Given the description of an element on the screen output the (x, y) to click on. 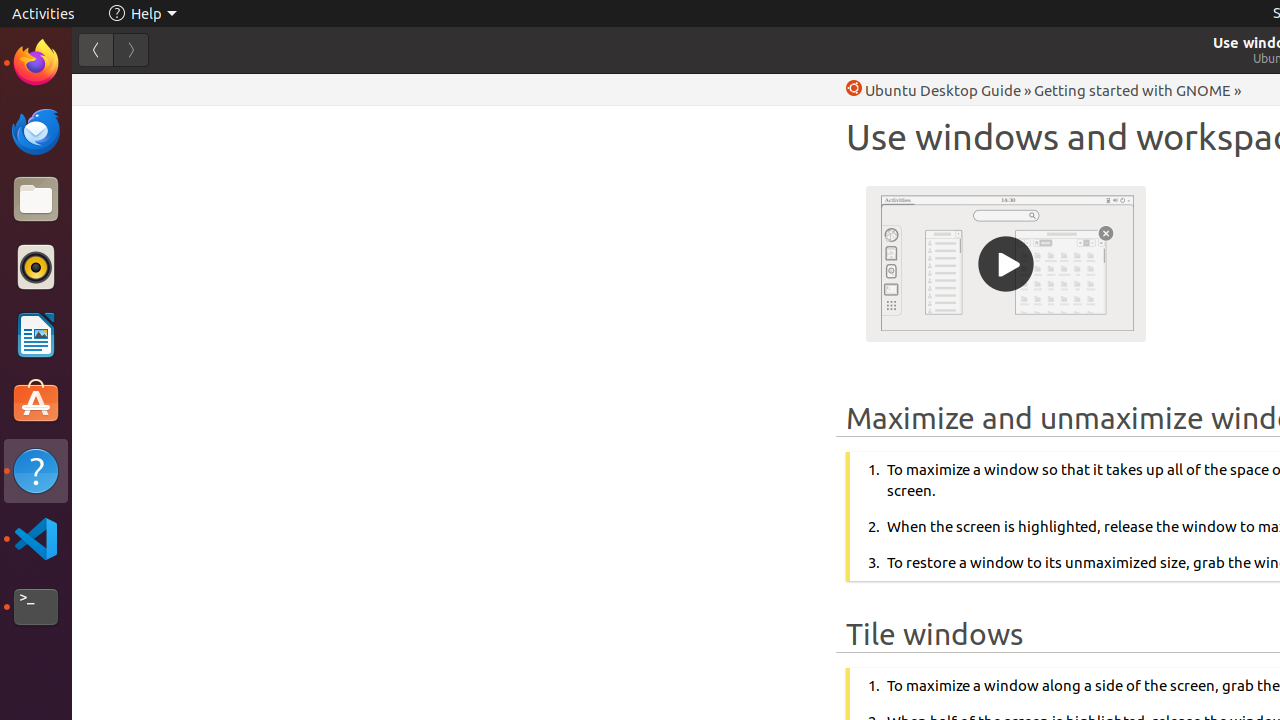
Getting started with GNOME Element type: link (1132, 90)
Help Ubuntu Desktop Guide Element type: link (933, 89)
